Given the description of an element on the screen output the (x, y) to click on. 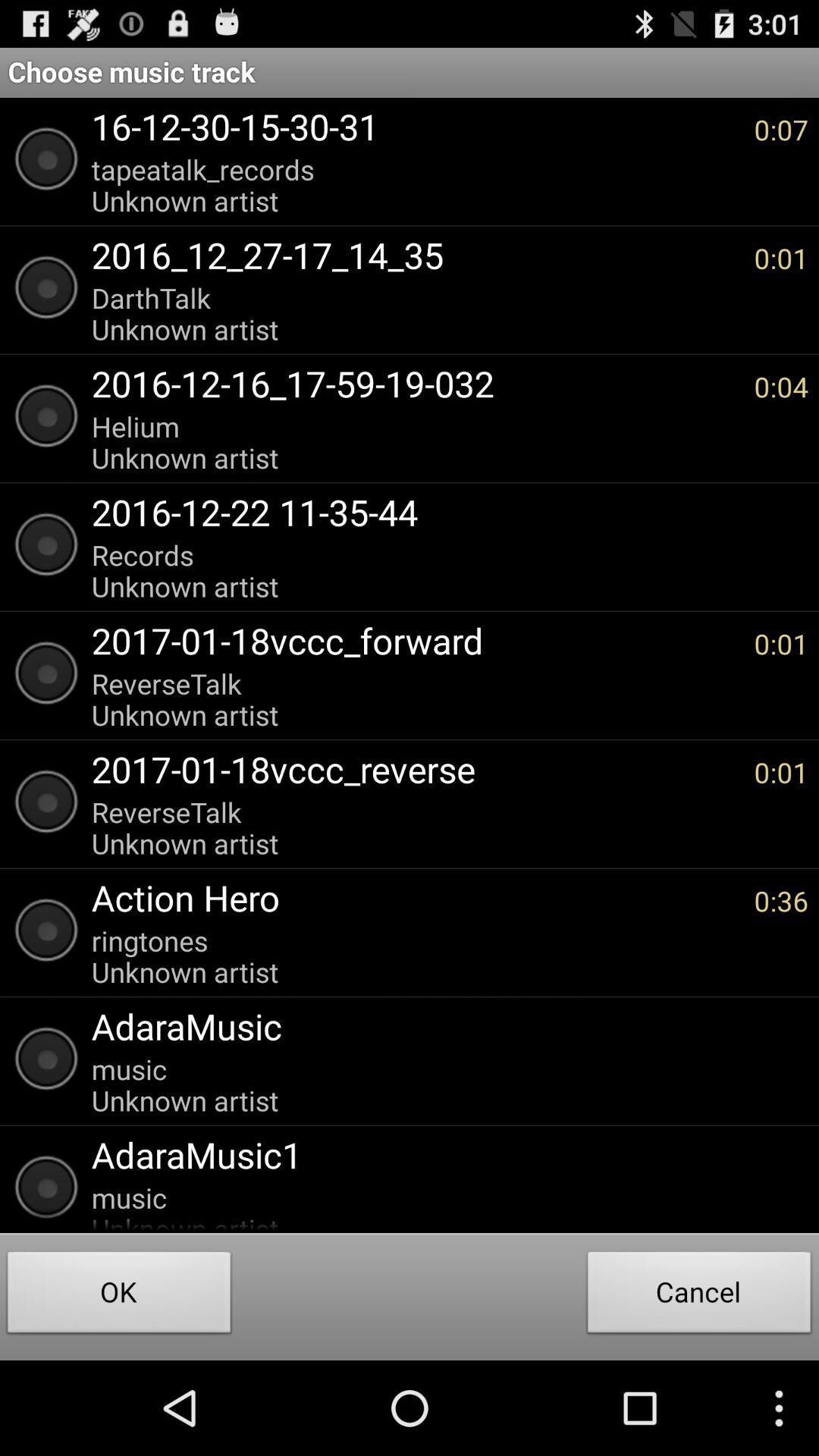
turn on app above the music
unknown artist (441, 1154)
